Given the description of an element on the screen output the (x, y) to click on. 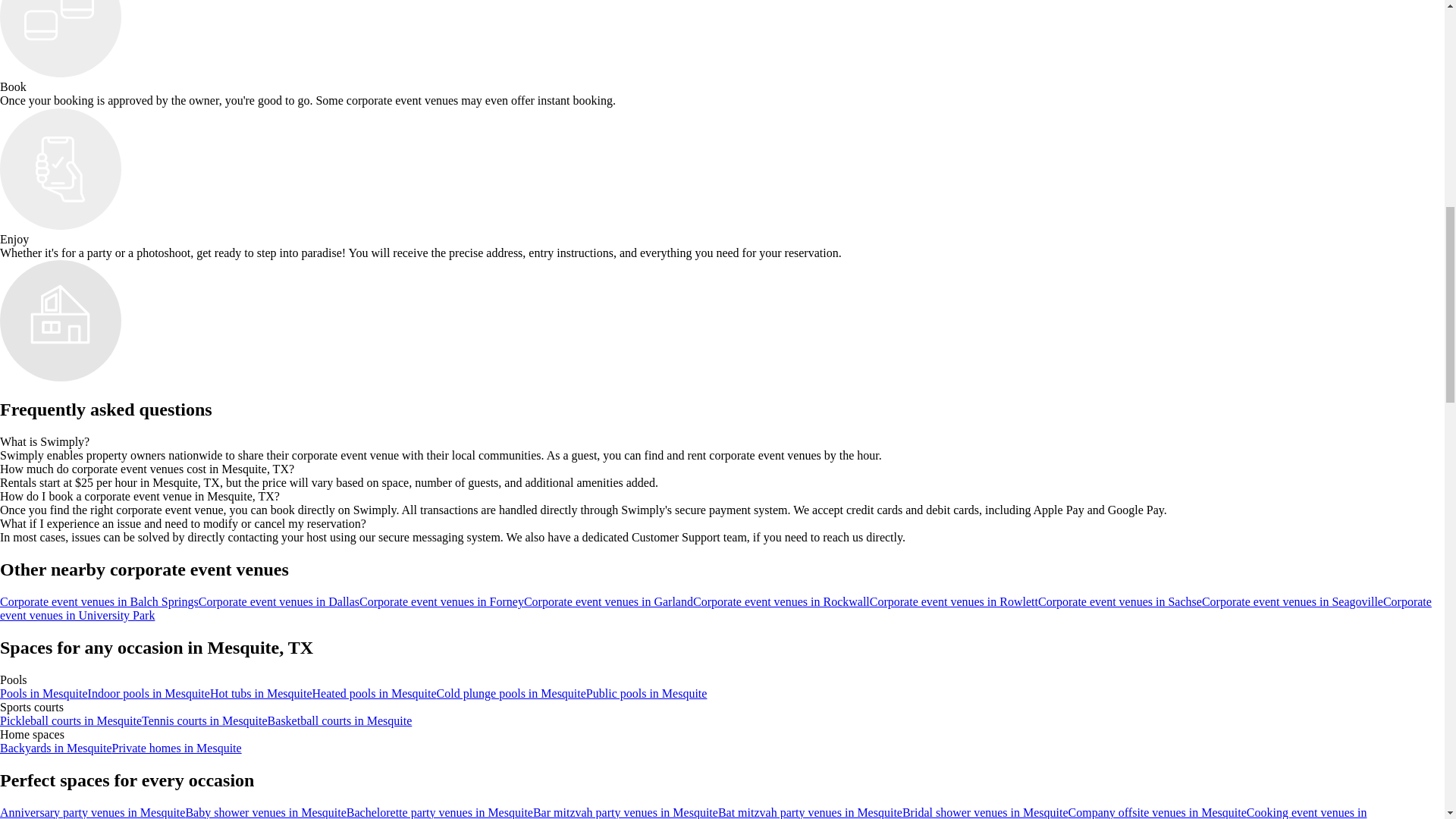
Public pools in Mesquite (646, 693)
Bachelorette party venues in Mesquite (439, 812)
Heated pools in Mesquite (374, 693)
Pools in Mesquite (43, 693)
Corporate event venues in Rockwall (781, 601)
Indoor pools in Mesquite (148, 693)
Private homes in Mesquite (176, 748)
Pickleball courts in Mesquite (70, 720)
Cold plunge pools in Mesquite (511, 693)
Corporate event venues in Balch Springs (99, 601)
Corporate event venues in Dallas (278, 601)
Bar mitzvah party venues in Mesquite (624, 812)
Hot tubs in Mesquite (261, 693)
Corporate event venues in Seagoville (1292, 601)
Backyards in Mesquite (56, 748)
